Given the description of an element on the screen output the (x, y) to click on. 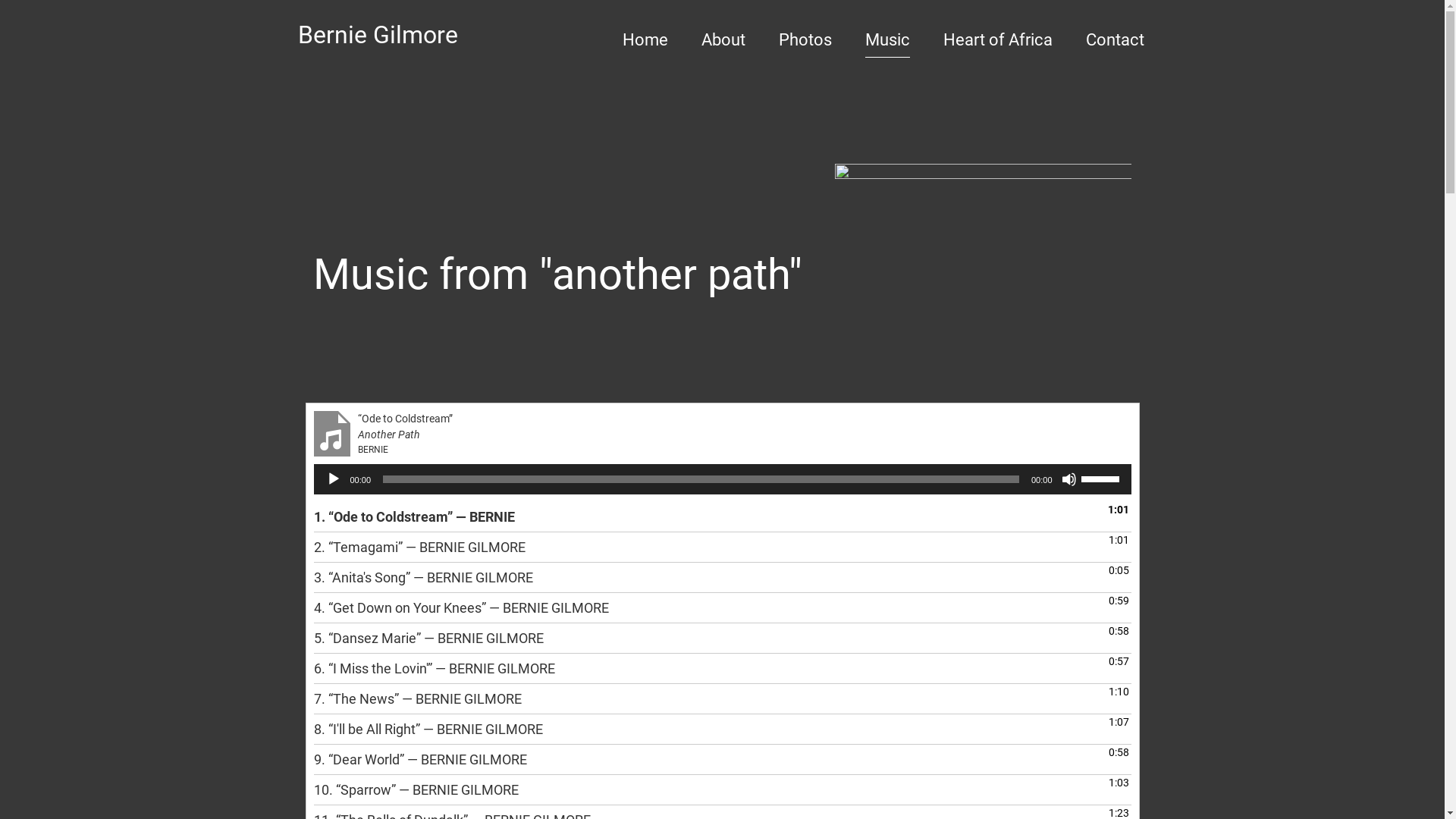
Use Up/Down Arrow keys to increase or decrease volume. Element type: text (1102, 477)
Photos Element type: text (804, 39)
Bernie Gilmore Element type: text (377, 34)
Mute Element type: hover (1068, 478)
Home Element type: text (645, 39)
Play Element type: hover (333, 478)
About Element type: text (723, 39)
Contact Element type: text (1114, 39)
Music Element type: text (887, 39)
Heart of Africa Element type: text (997, 39)
